Given the description of an element on the screen output the (x, y) to click on. 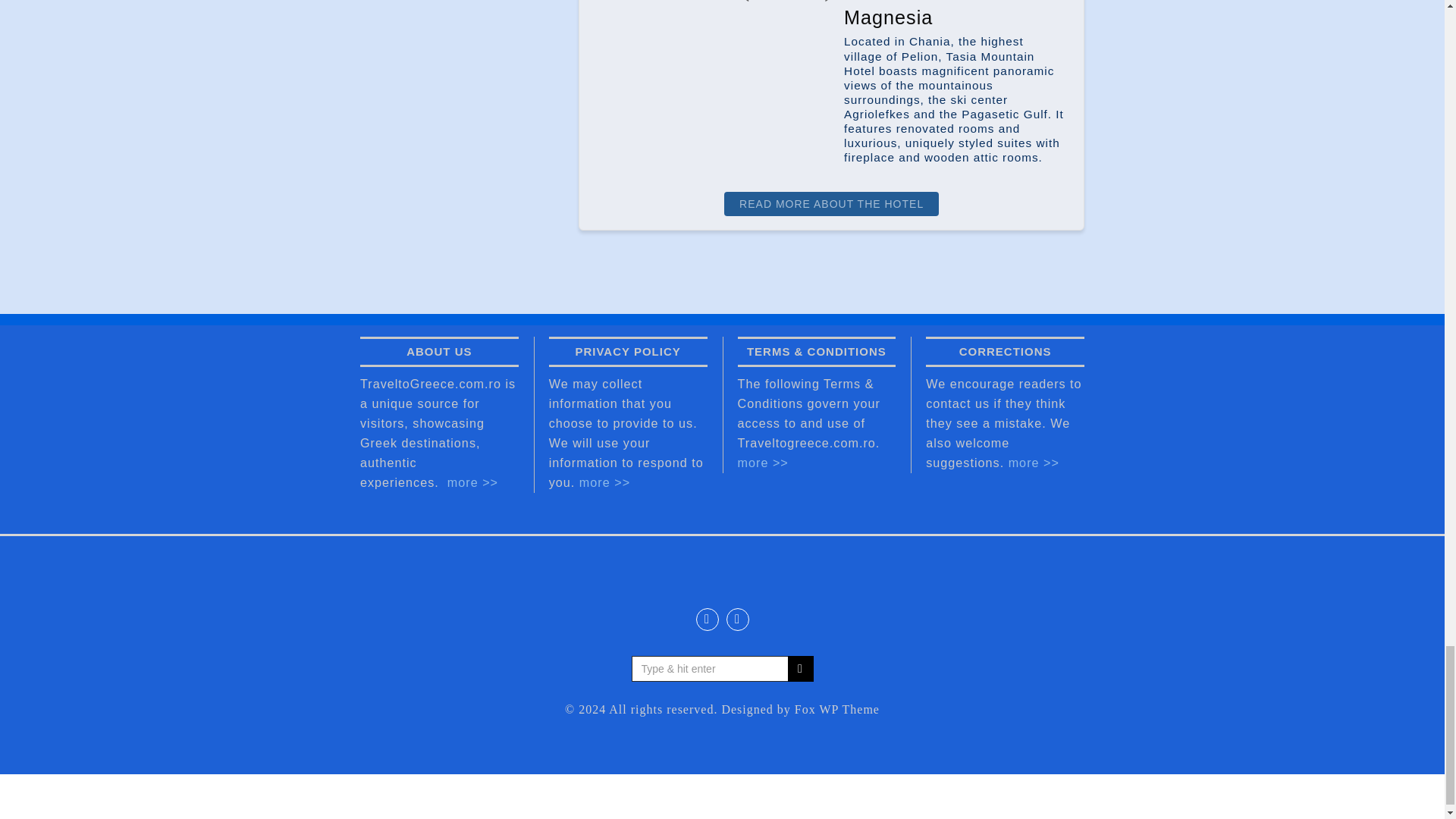
Go (799, 668)
Twitter (707, 619)
Pinterest (737, 619)
